Given the description of an element on the screen output the (x, y) to click on. 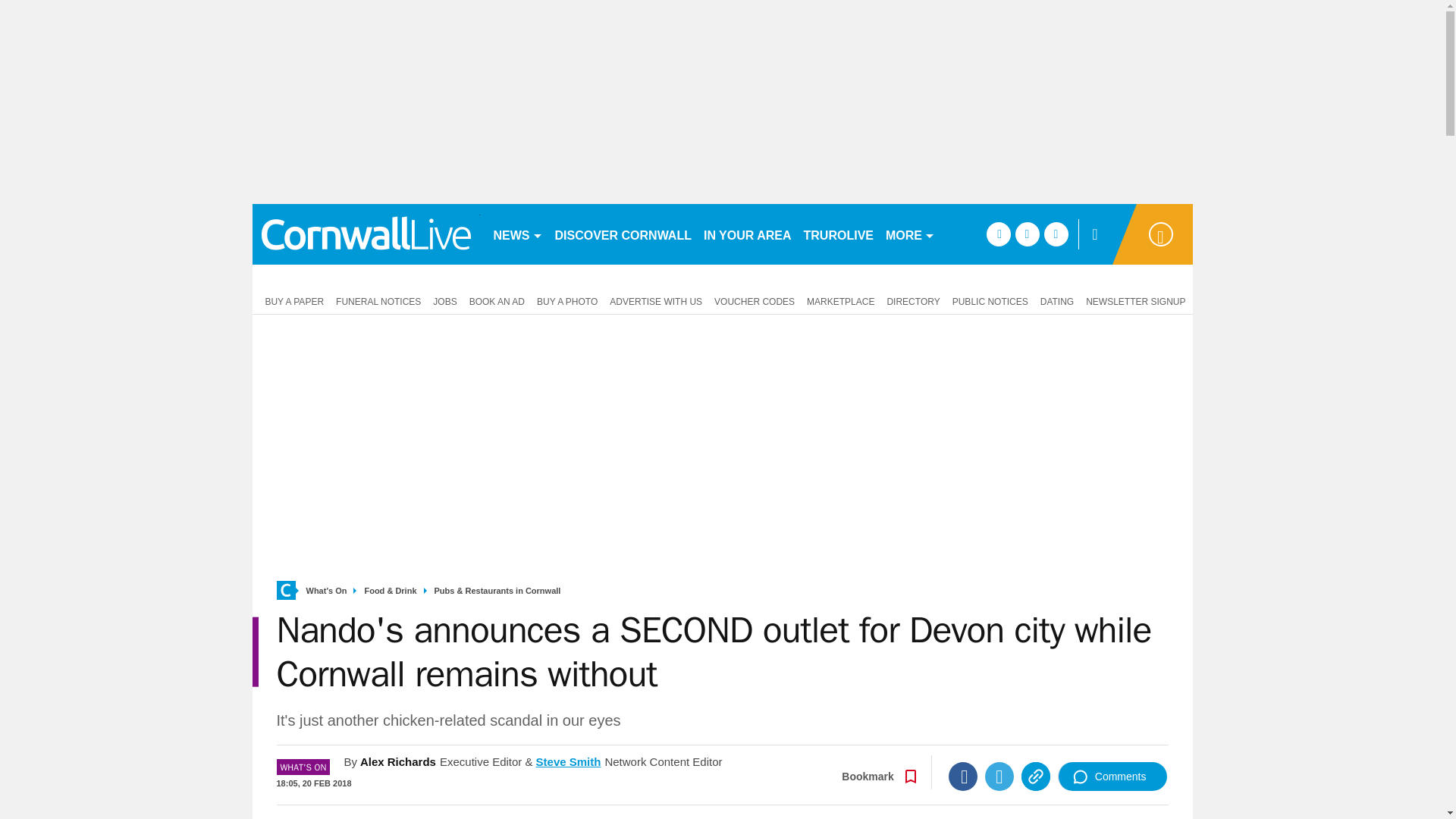
twitter (1026, 233)
DISCOVER CORNWALL (622, 233)
NEWS (517, 233)
instagram (1055, 233)
MORE (909, 233)
facebook (997, 233)
Facebook (962, 776)
Twitter (999, 776)
TRUROLIVE (838, 233)
IN YOUR AREA (747, 233)
cornwalllive (365, 233)
Comments (1112, 776)
